Given the description of an element on the screen output the (x, y) to click on. 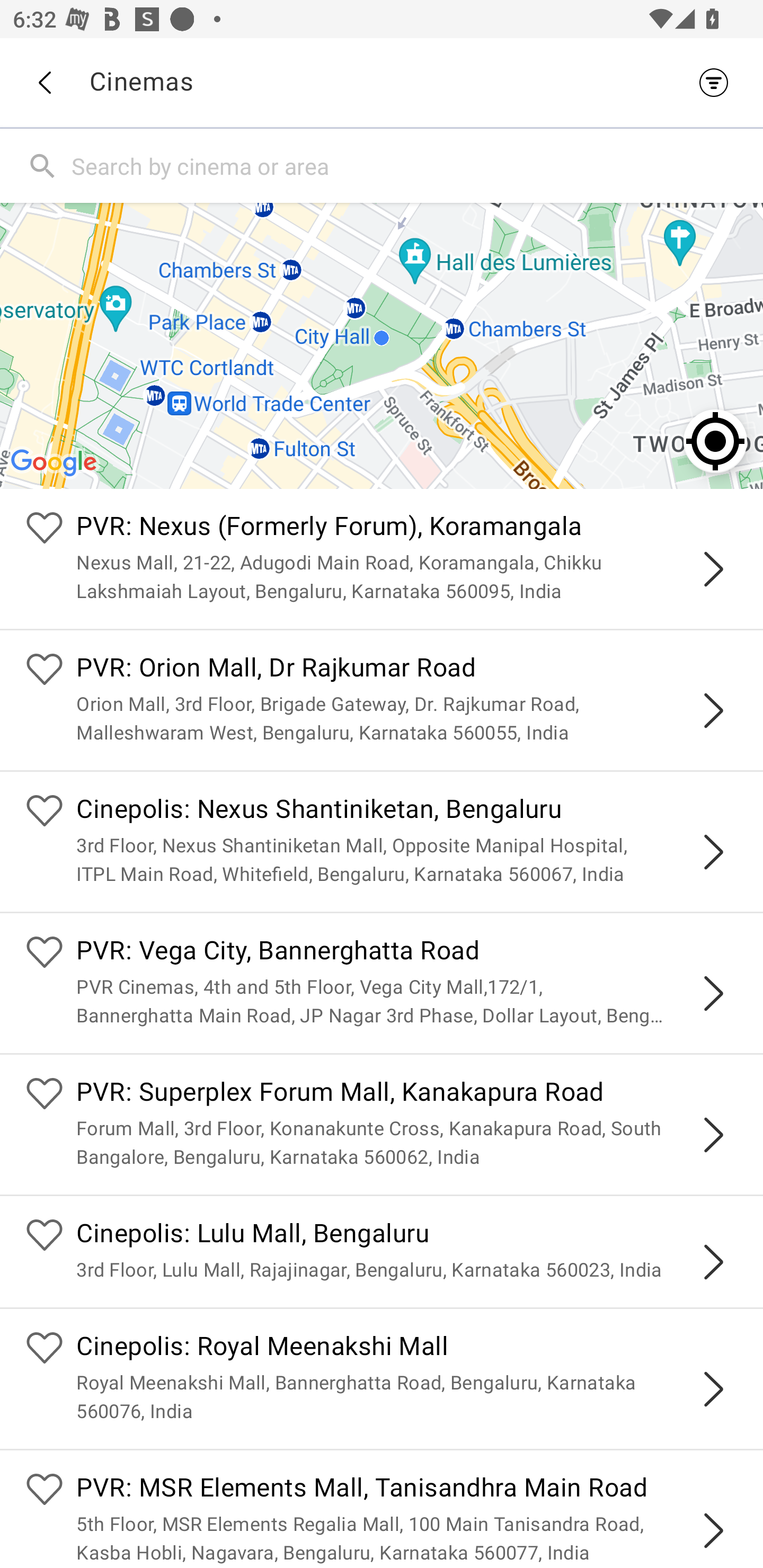
Back Cinemas Filter (381, 82)
Filter (718, 82)
Back (44, 82)
Search by cinema or area (413, 165)
Google Map Map Marker Map Marker (381, 345)
PVR: Nexus (Formerly Forum), Koramangala (406, 528)
 (713, 568)
PVR: Orion Mall, Dr Rajkumar Road (406, 669)
 (713, 710)
Cinepolis: Nexus Shantiniketan, Bengaluru (406, 810)
 (713, 851)
PVR: Vega City, Bannerghatta Road (406, 952)
 (713, 993)
PVR: Superplex Forum Mall, Kanakapura Road (406, 1094)
 (713, 1134)
Cinepolis: Lulu Mall, Bengaluru (406, 1235)
 (713, 1261)
Cinepolis: Royal Meenakshi Mall (406, 1348)
 (713, 1388)
PVR: MSR Elements Mall, Tanisandhra Main Road (406, 1489)
 (713, 1530)
